Given the description of an element on the screen output the (x, y) to click on. 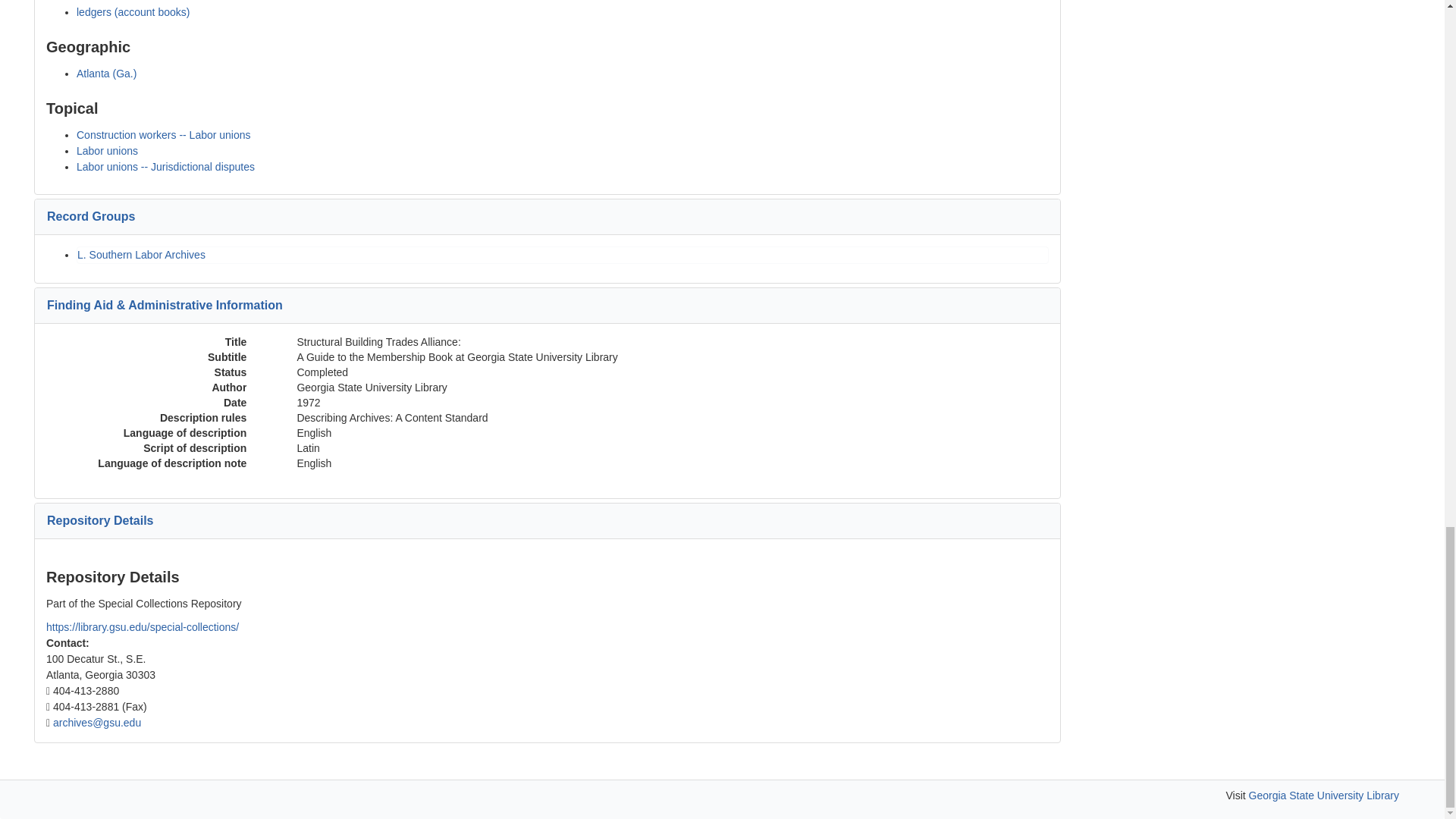
Labor unions (107, 150)
Labor unions -- Jurisdictional disputes (165, 166)
Construction workers -- Labor unions (163, 134)
L. Southern Labor Archives (141, 254)
Record Groups (90, 215)
Repository Details (99, 520)
Send email (96, 722)
